Given the description of an element on the screen output the (x, y) to click on. 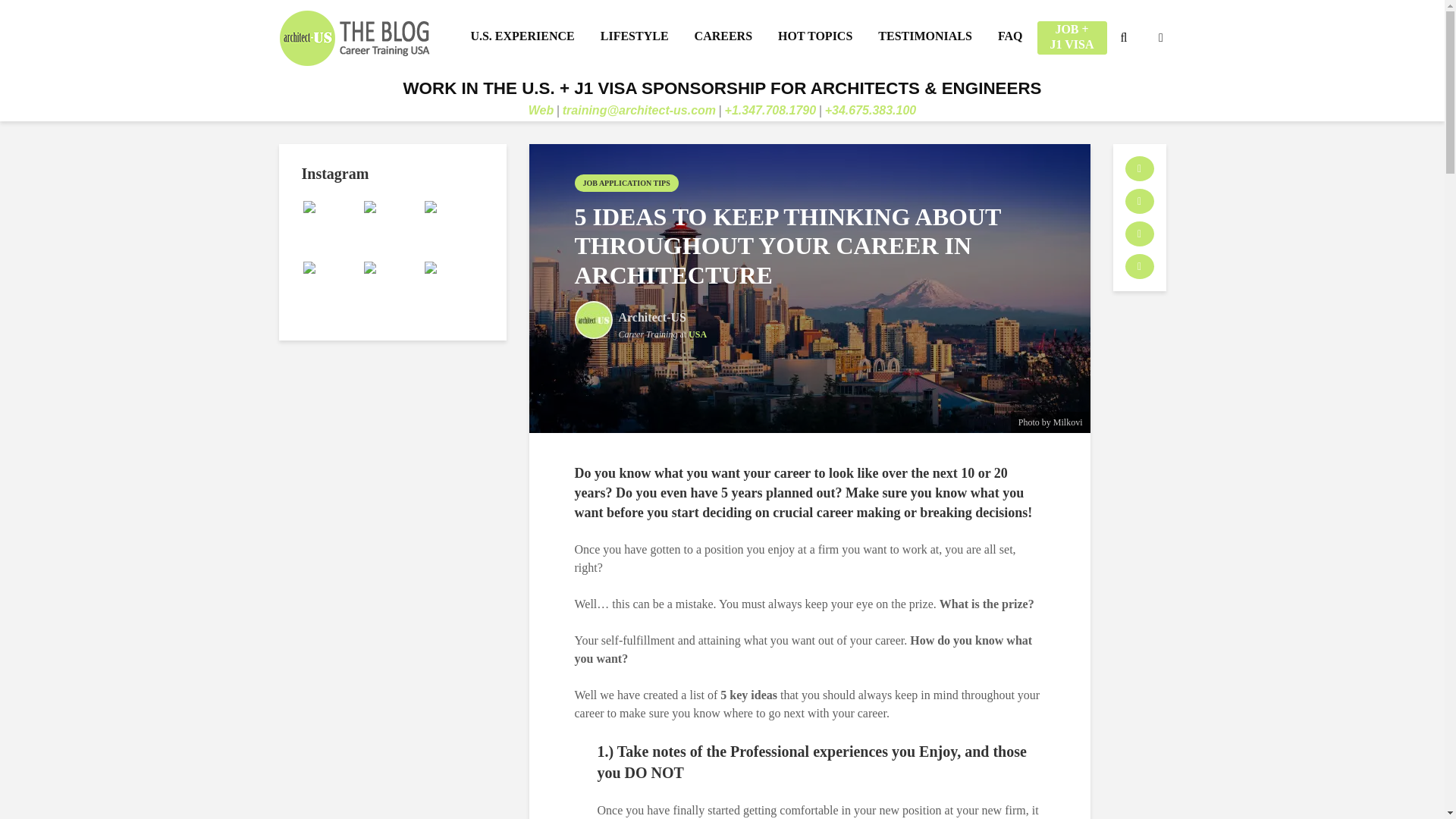
Web (540, 110)
FAQ (1010, 36)
HOT TOPICS (815, 36)
CAREERS (722, 36)
U.S. EXPERIENCE (521, 36)
TESTIMONIALS (925, 36)
LIFESTYLE (634, 36)
